Given the description of an element on the screen output the (x, y) to click on. 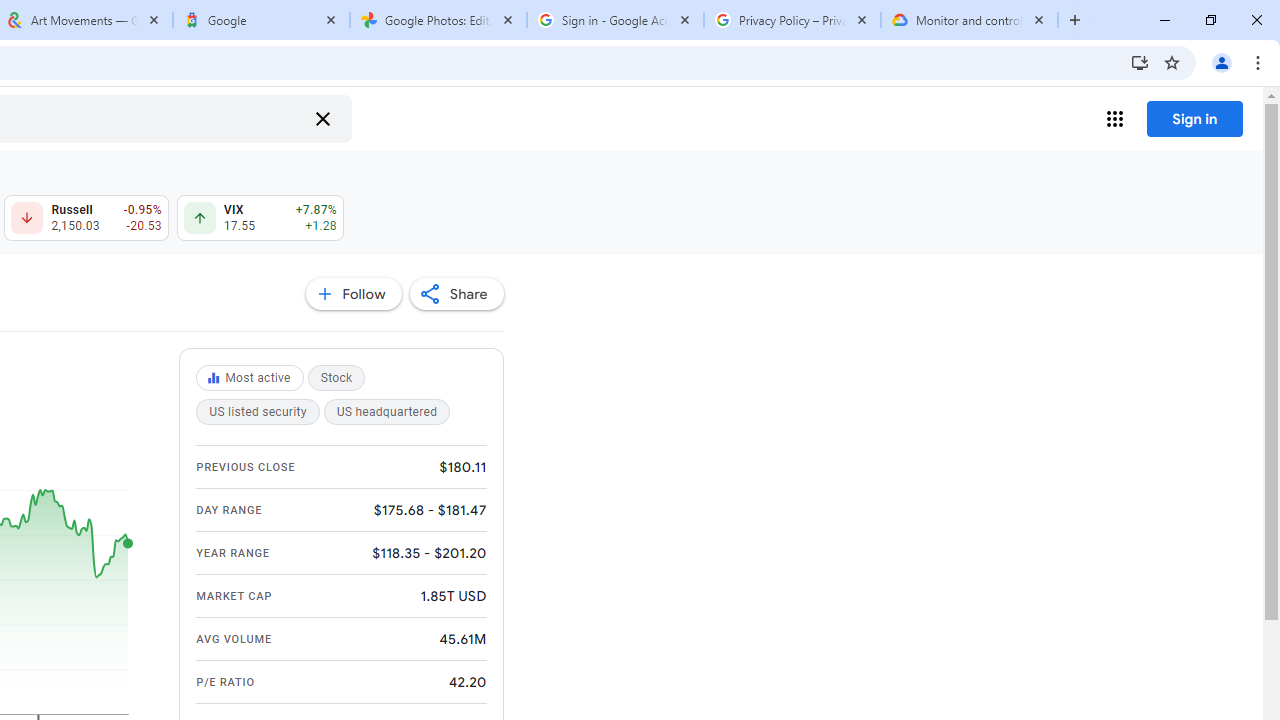
Share (456, 293)
VIX 17.55 Up by 7.87% +1.28 (260, 218)
Most active (251, 377)
Clear search (322, 118)
Google (260, 20)
Russell 2,150.03 Down by 0.95% -20.53 (85, 218)
Follow (353, 293)
